Given the description of an element on the screen output the (x, y) to click on. 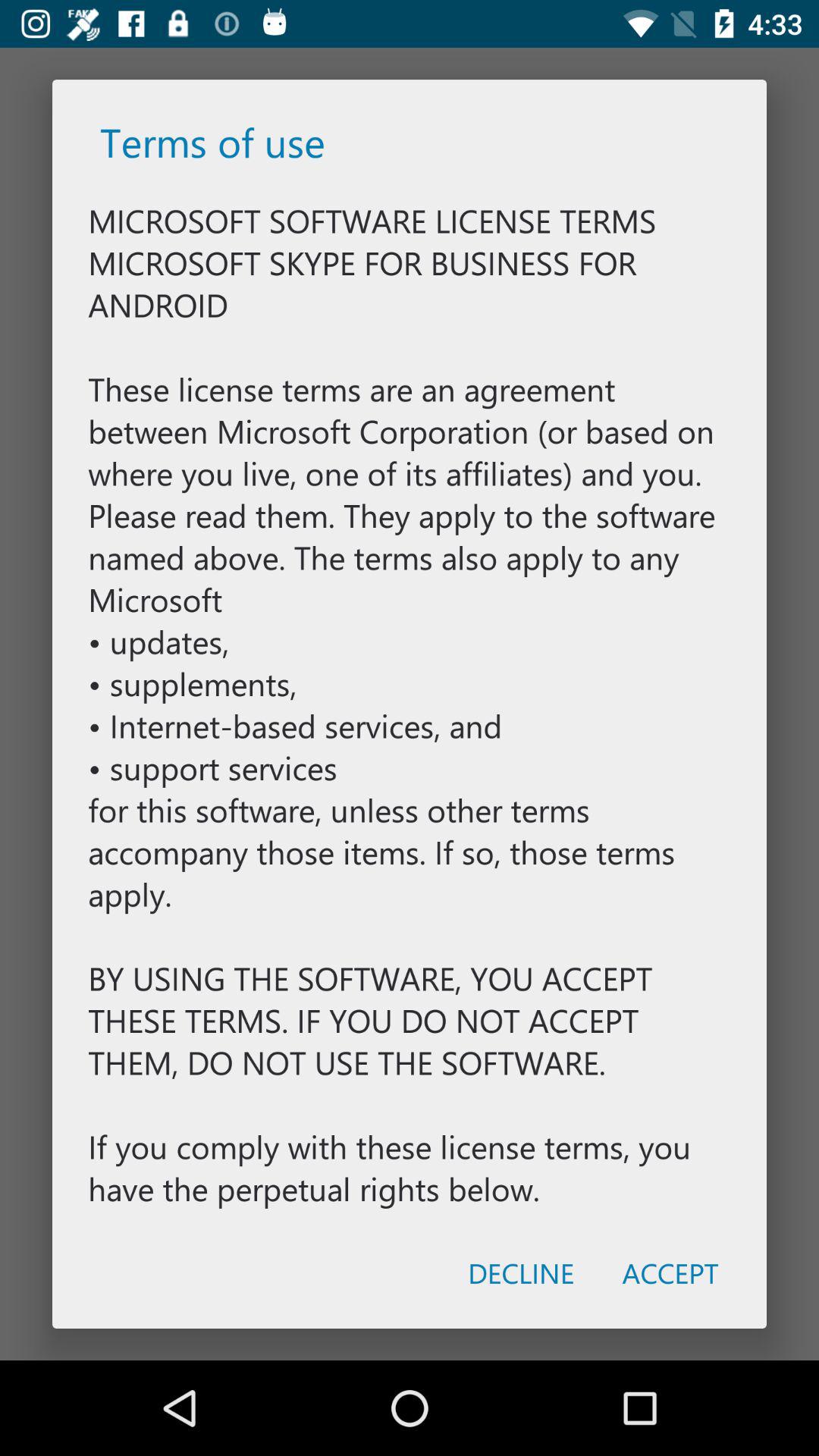
jump until the decline item (521, 1272)
